Given the description of an element on the screen output the (x, y) to click on. 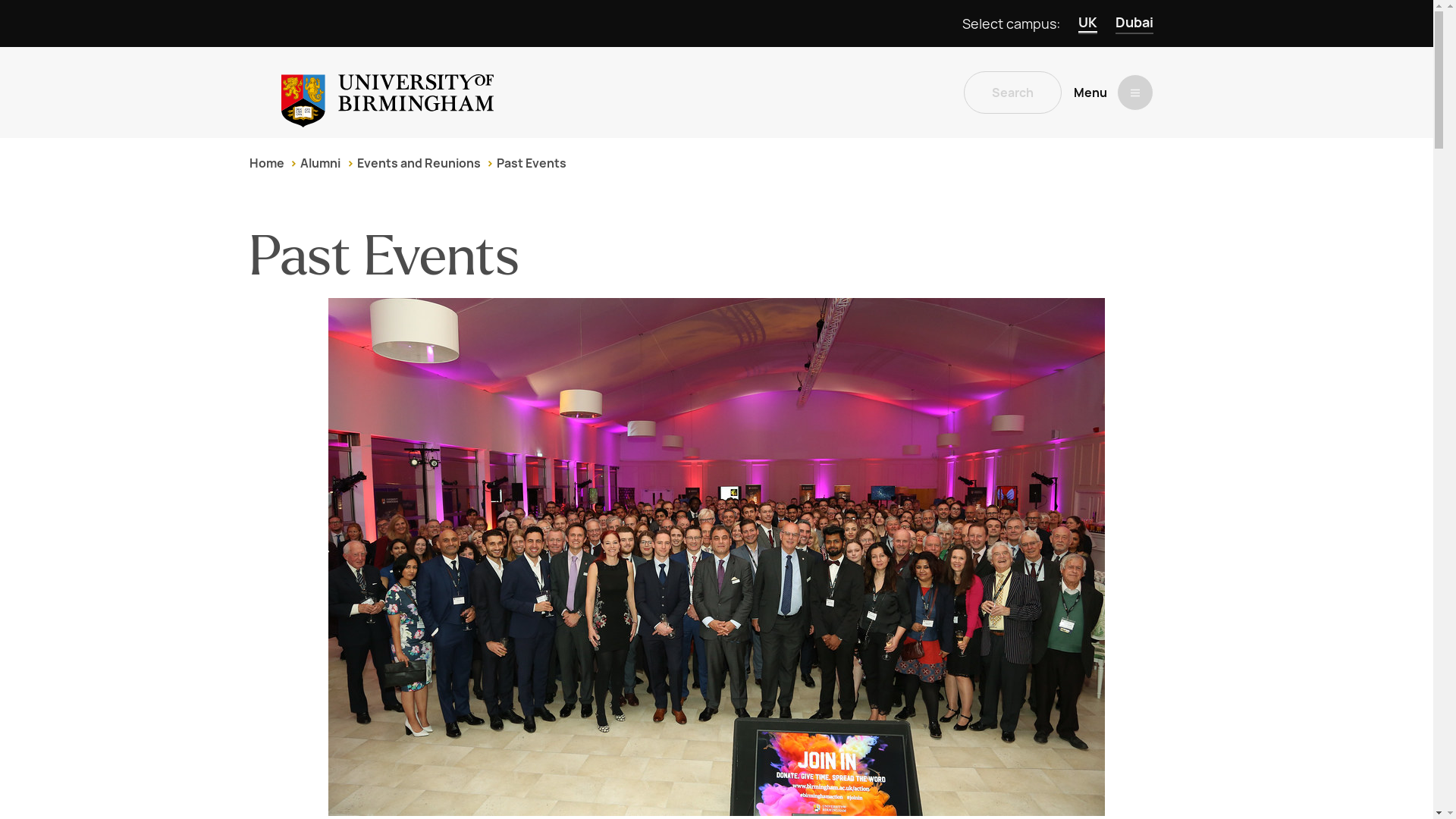
UK (1087, 23)
Past Events (531, 162)
Alumni (319, 162)
Events and Reunions (418, 162)
Search (1012, 92)
Home (265, 162)
Dubai (1134, 23)
